Given the description of an element on the screen output the (x, y) to click on. 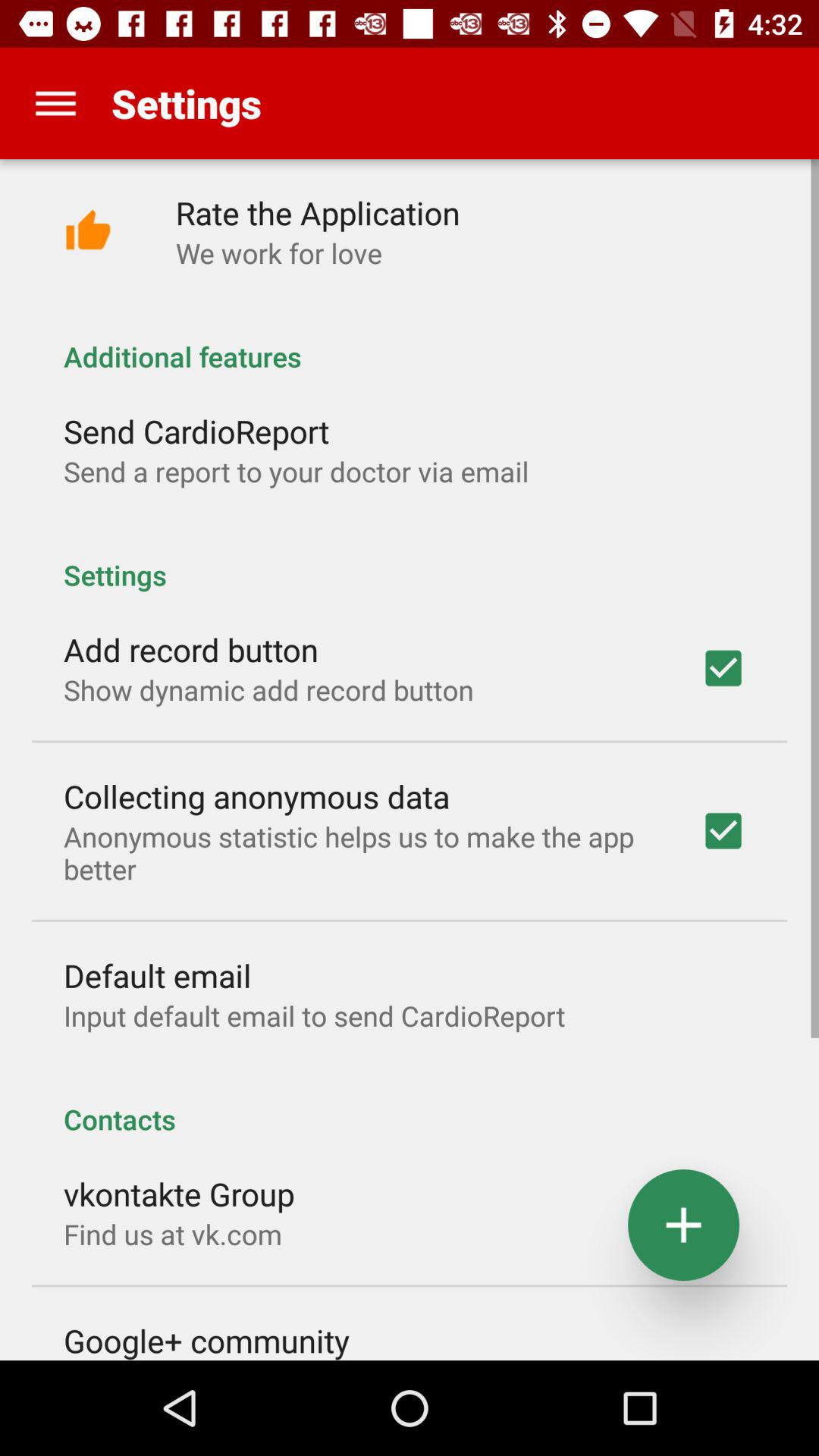
flip until anonymous statistic helps app (361, 852)
